Given the description of an element on the screen output the (x, y) to click on. 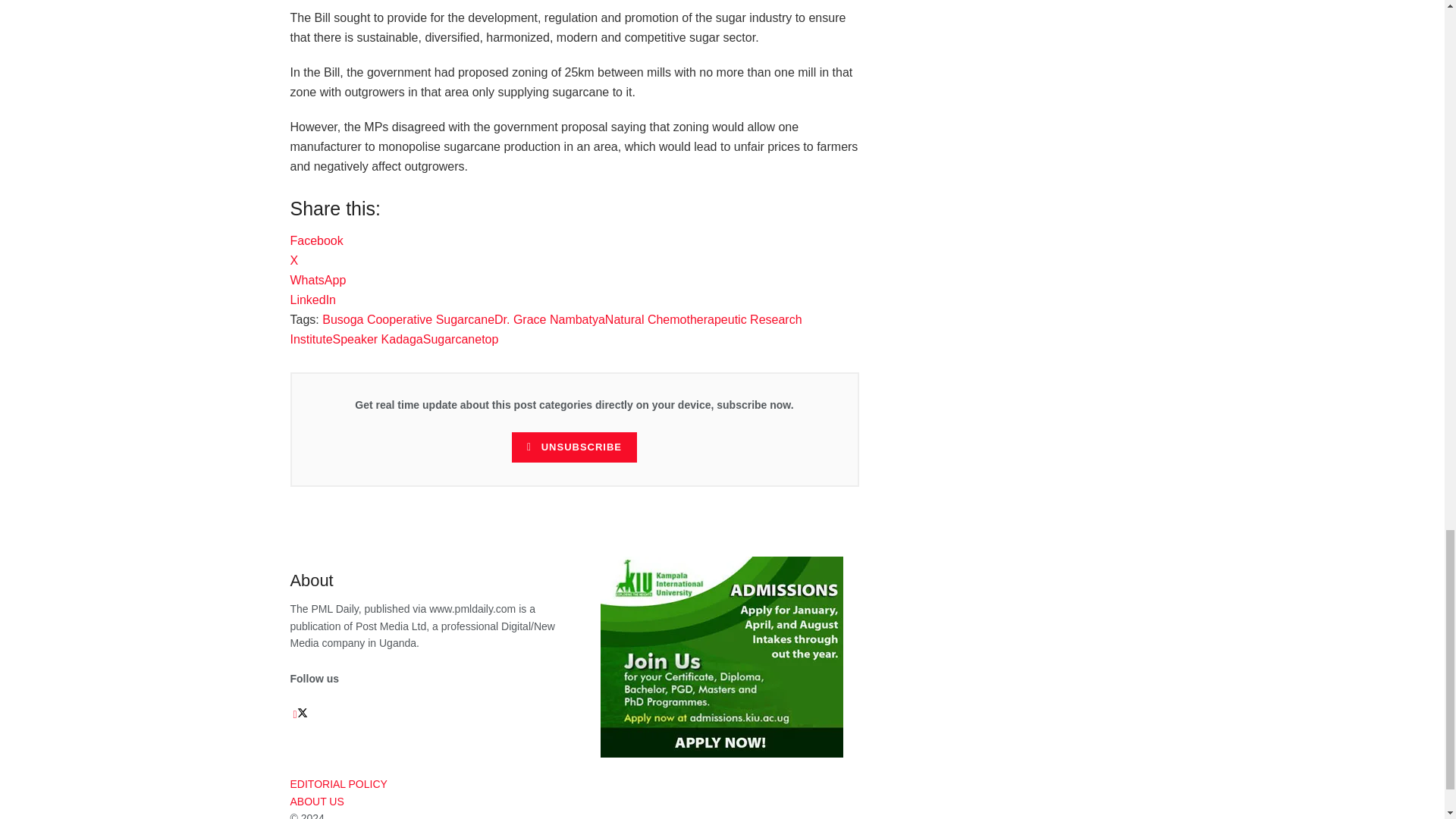
Click to share on LinkedIn (312, 299)
Click to share on WhatsApp (317, 279)
Click to share on Facebook (315, 240)
